Given the description of an element on the screen output the (x, y) to click on. 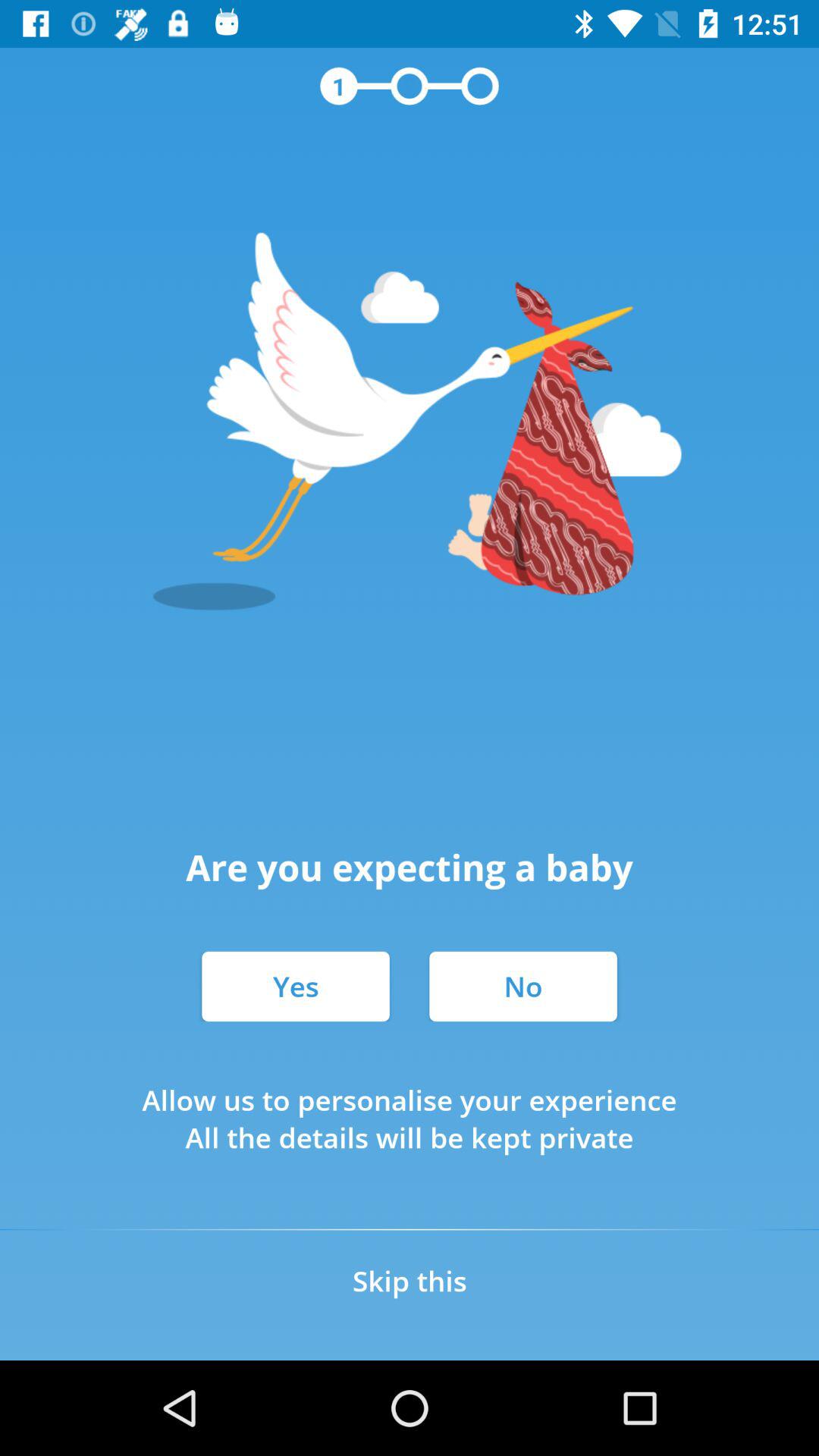
launch icon below the are you expecting item (523, 986)
